Given the description of an element on the screen output the (x, y) to click on. 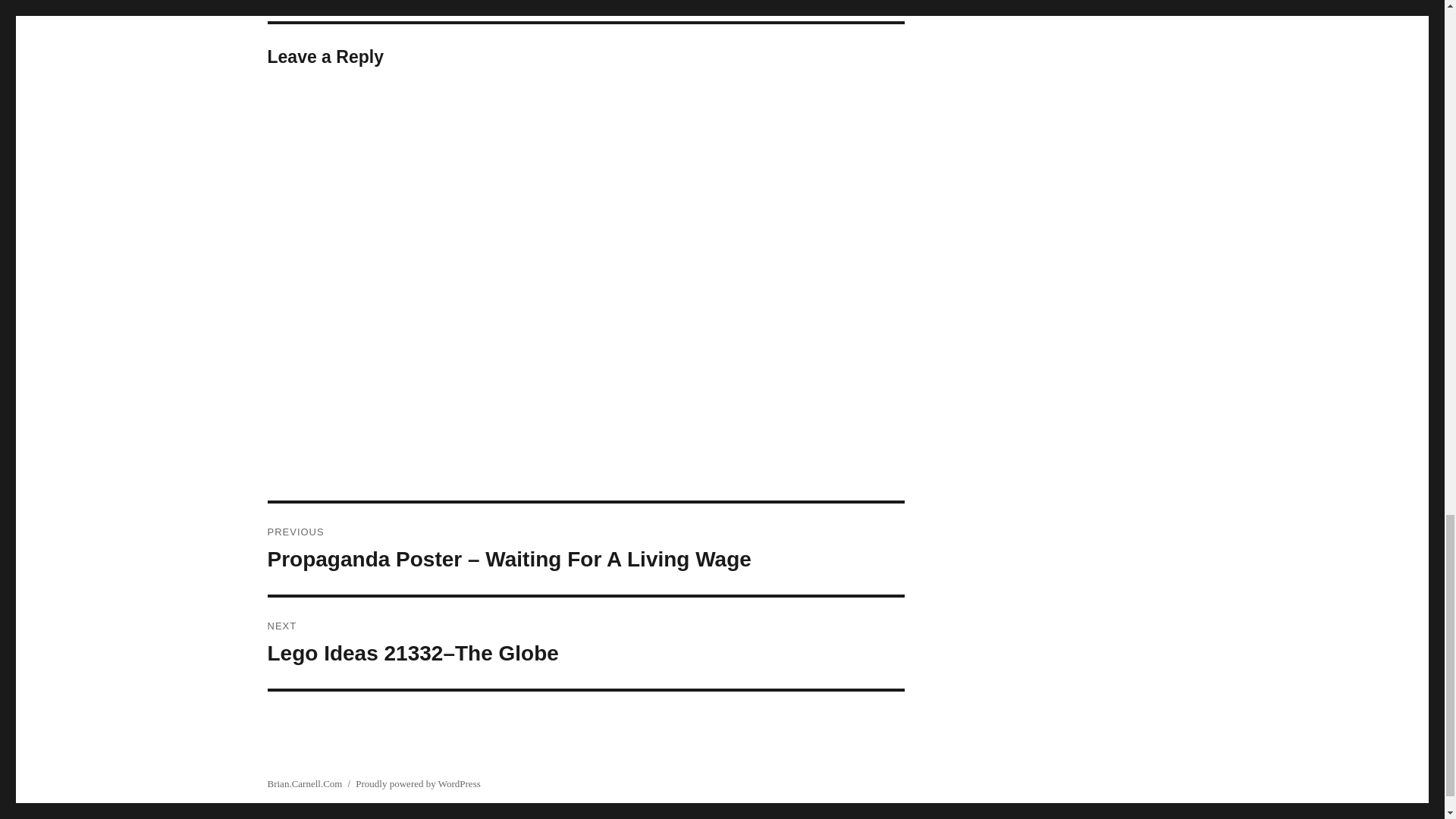
Brian.Carnell.Com (304, 783)
Proudly powered by WordPress (417, 783)
